Given the description of an element on the screen output the (x, y) to click on. 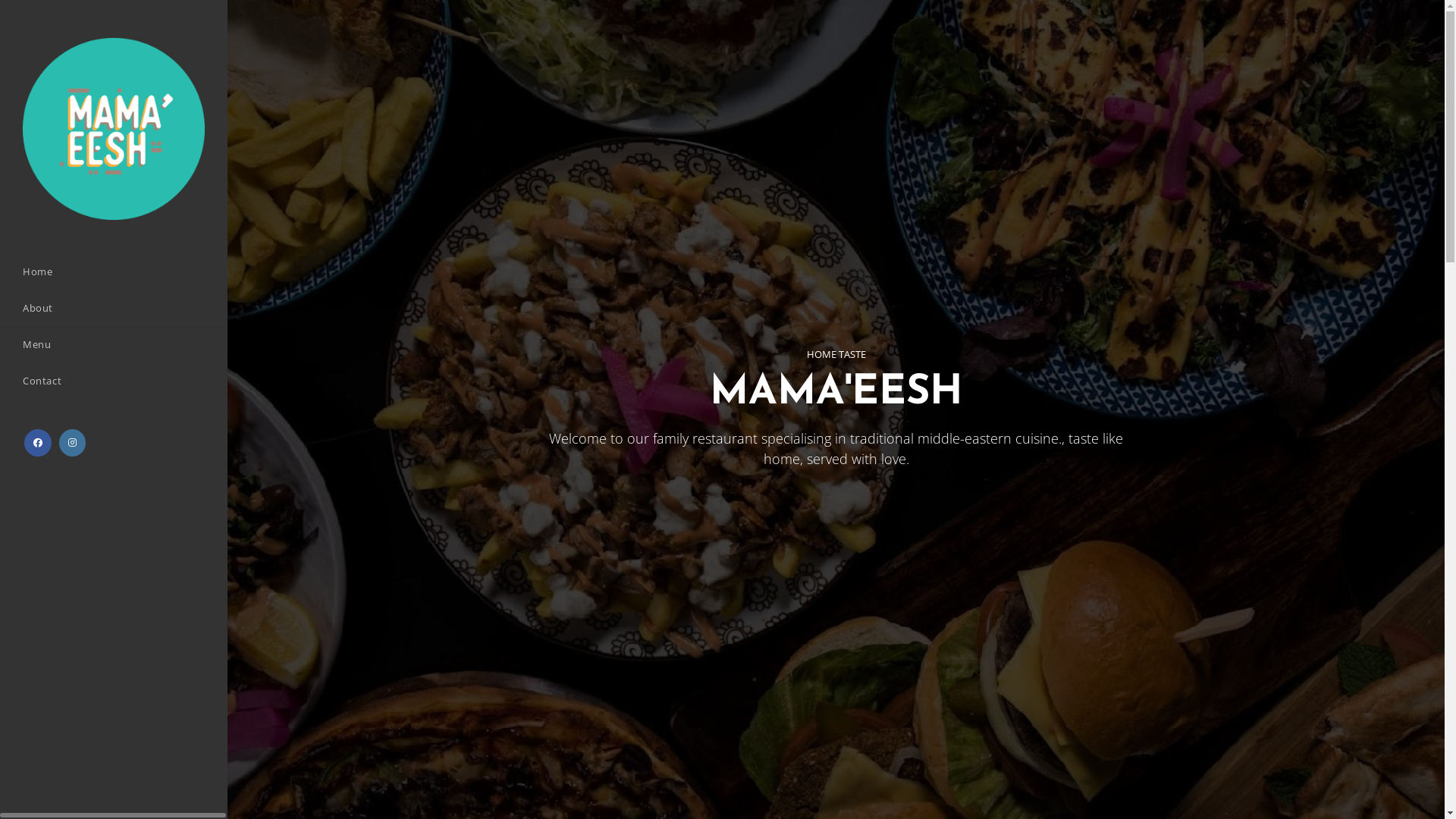
Contact Element type: text (113, 380)
Menu Element type: text (113, 344)
Home Element type: text (113, 271)
About Element type: text (113, 308)
